Given the description of an element on the screen output the (x, y) to click on. 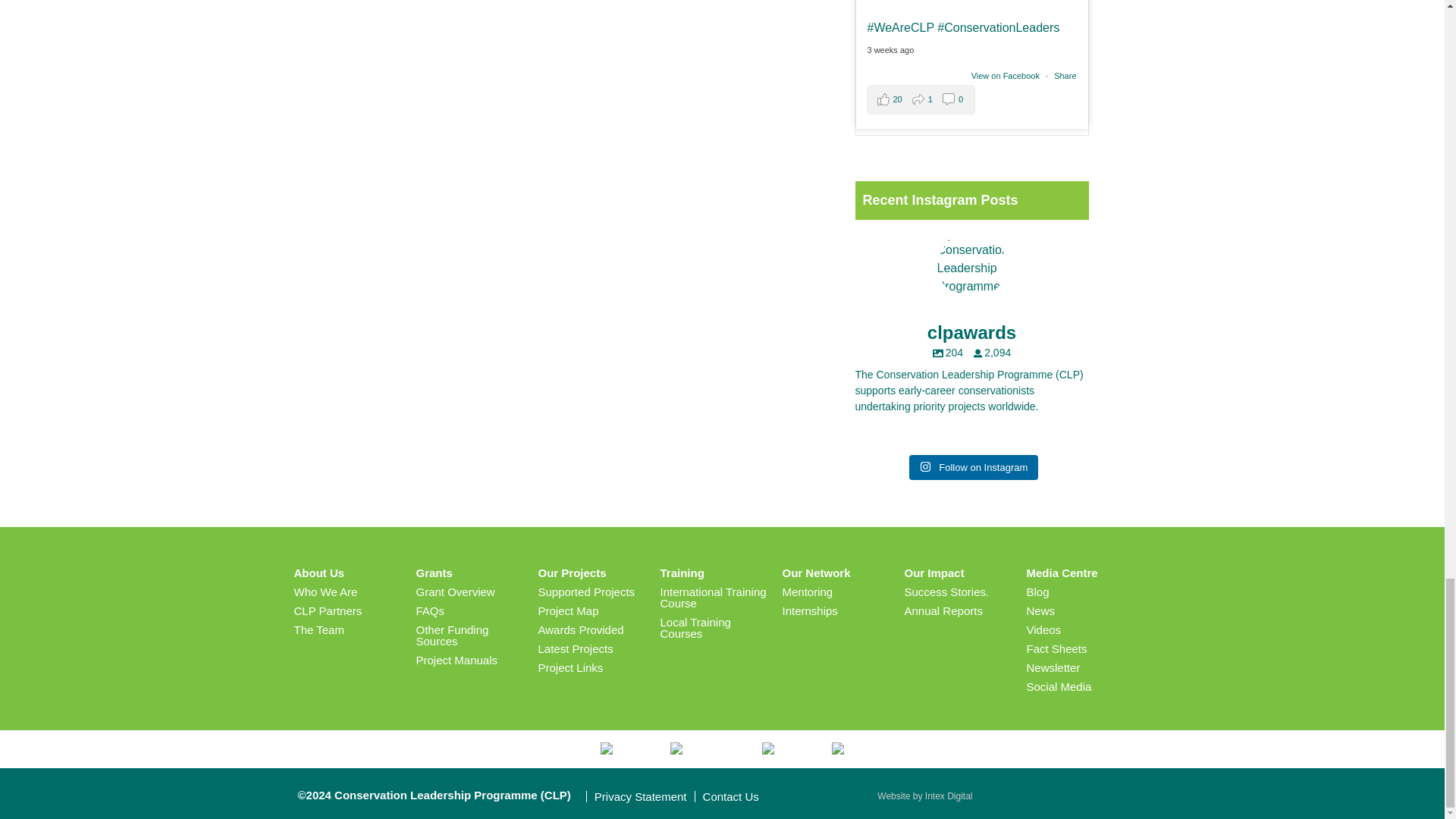
View on Facebook (1006, 75)
Share (1064, 75)
